Given the description of an element on the screen output the (x, y) to click on. 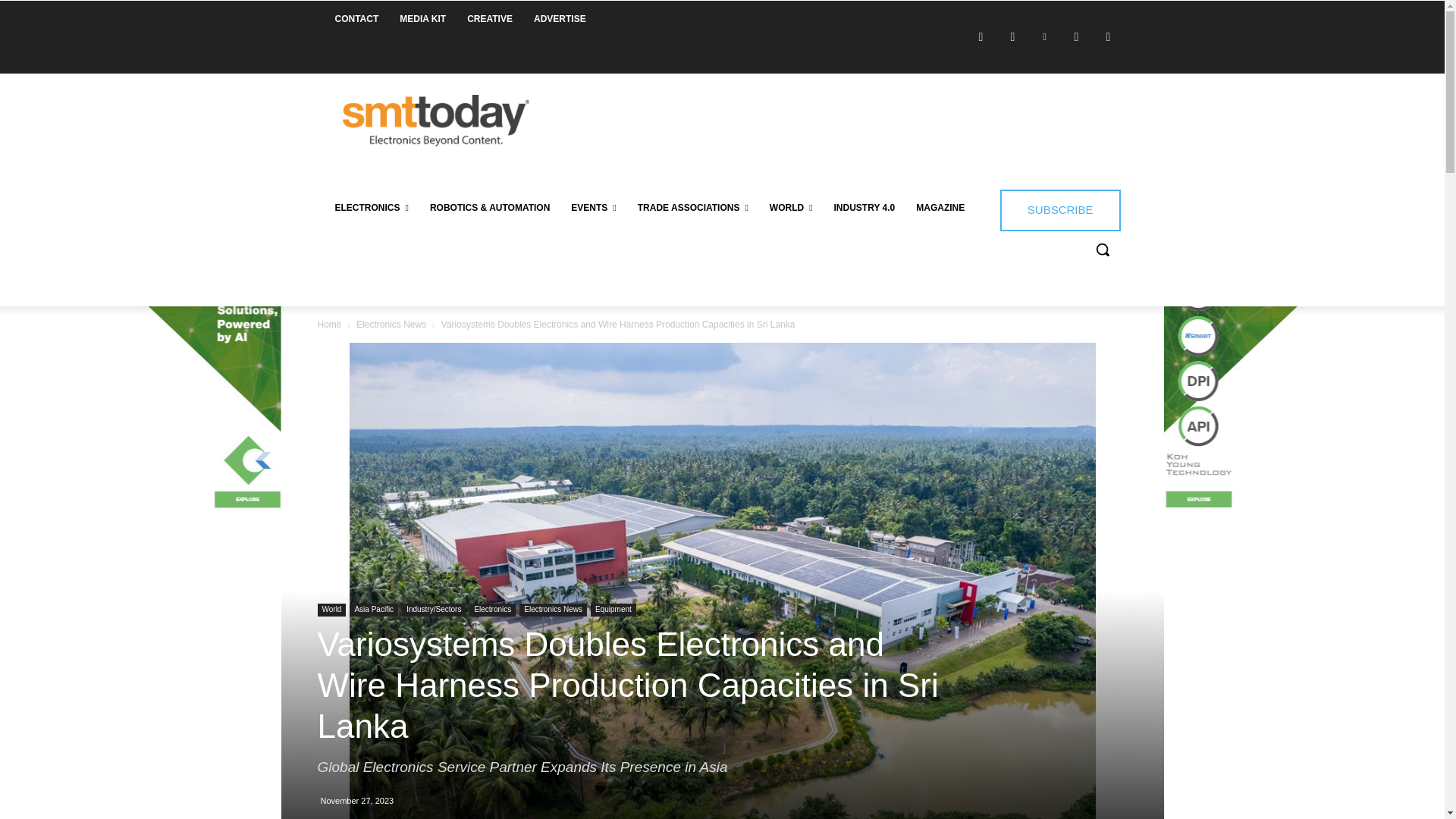
MEDIA KIT (422, 18)
Twitter (1076, 37)
Facebook (980, 37)
Instagram (1013, 37)
Linkedin (1044, 37)
SUBSCRIBE (1060, 209)
Youtube (1108, 37)
SMT Today  Electronics Beyond Content (435, 120)
CONTACT (357, 18)
